Given the description of an element on the screen output the (x, y) to click on. 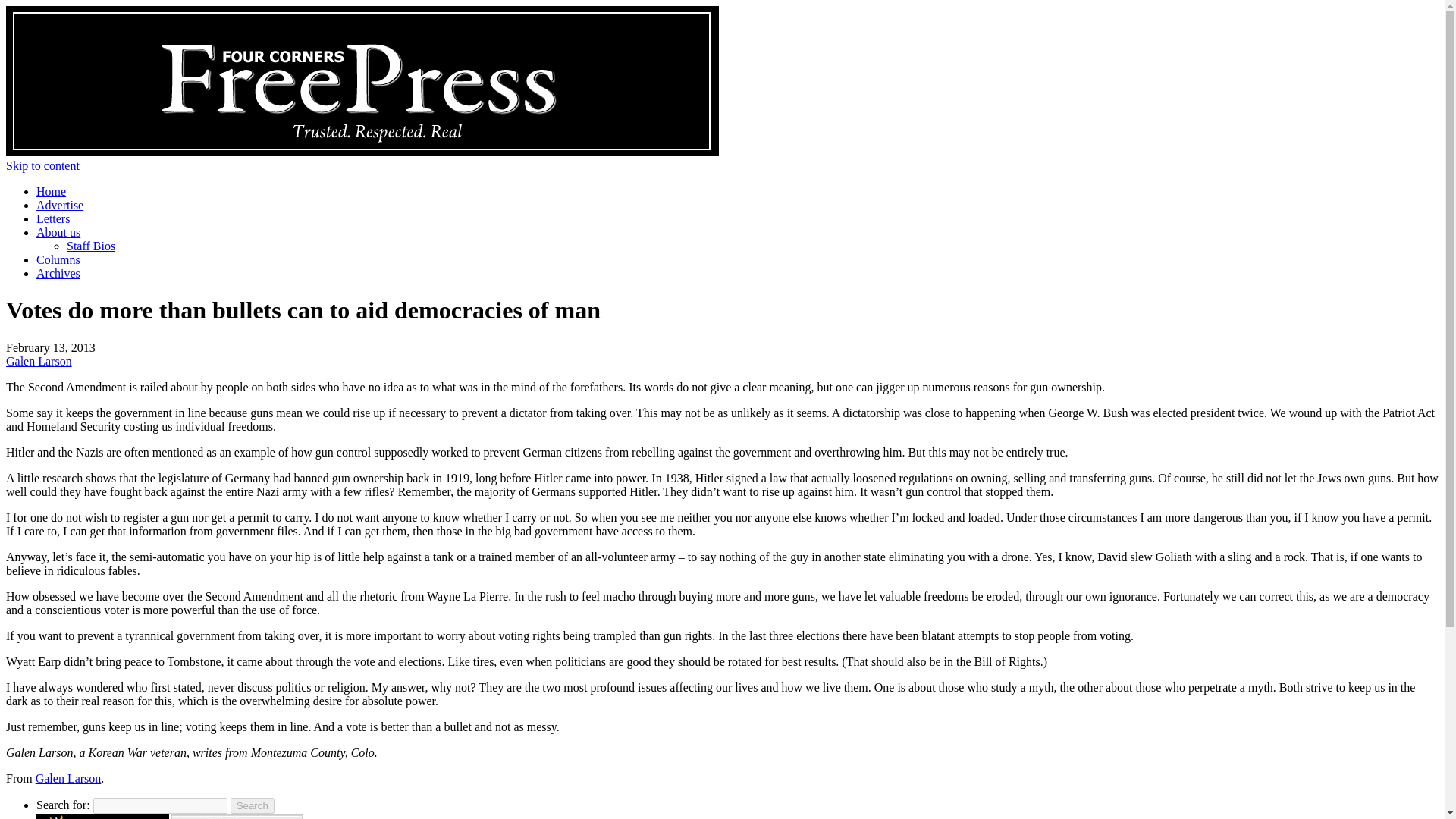
Skip to content (42, 164)
View all posts by Galen Larson (38, 360)
Staff Bios (90, 245)
Galen Larson (67, 778)
Search (252, 805)
Letters (52, 218)
Search (252, 805)
Skip to content (42, 164)
Archives (58, 273)
Galen Larson (38, 360)
